Given the description of an element on the screen output the (x, y) to click on. 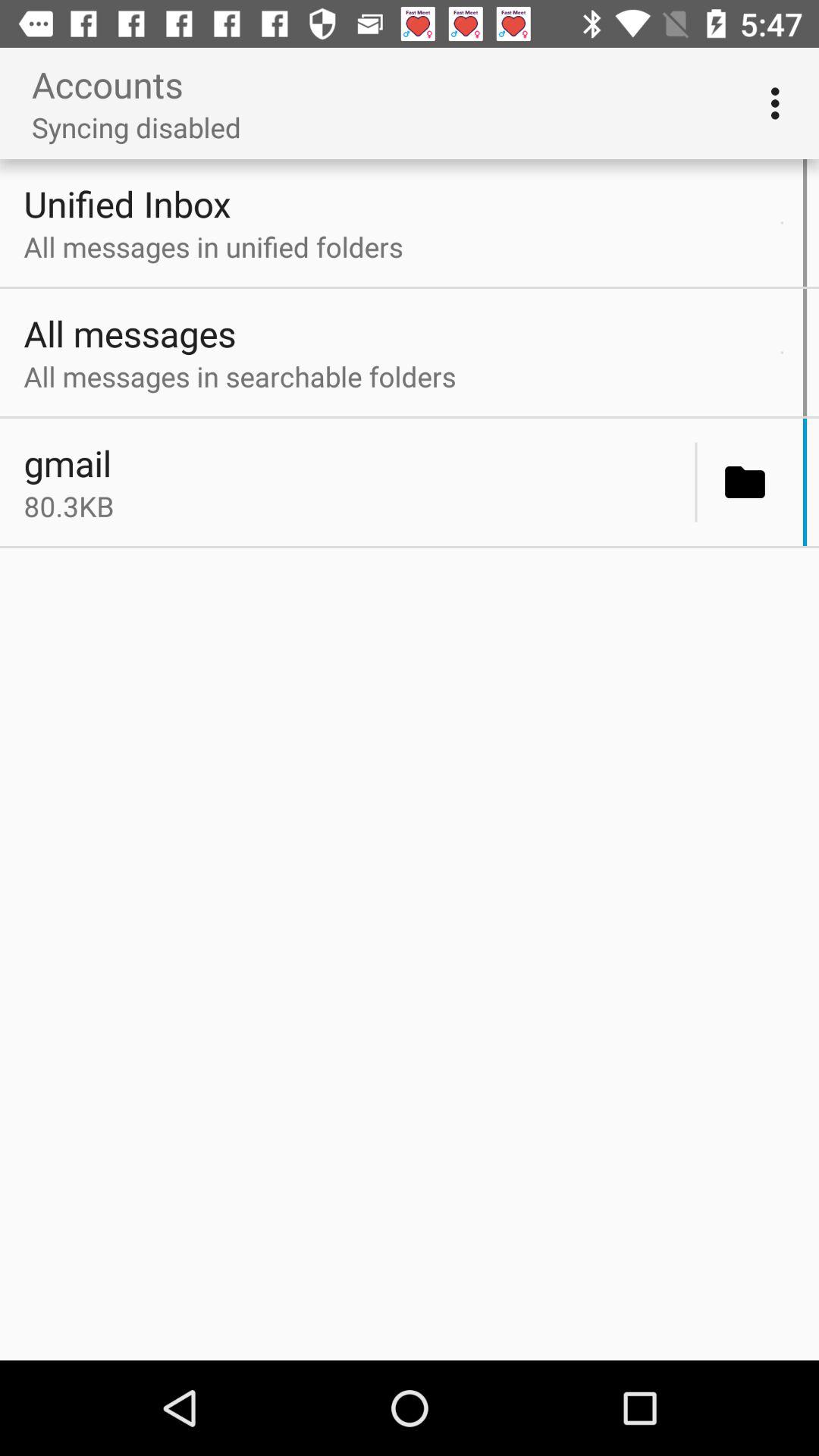
select the icon below gmail icon (355, 505)
